Given the description of an element on the screen output the (x, y) to click on. 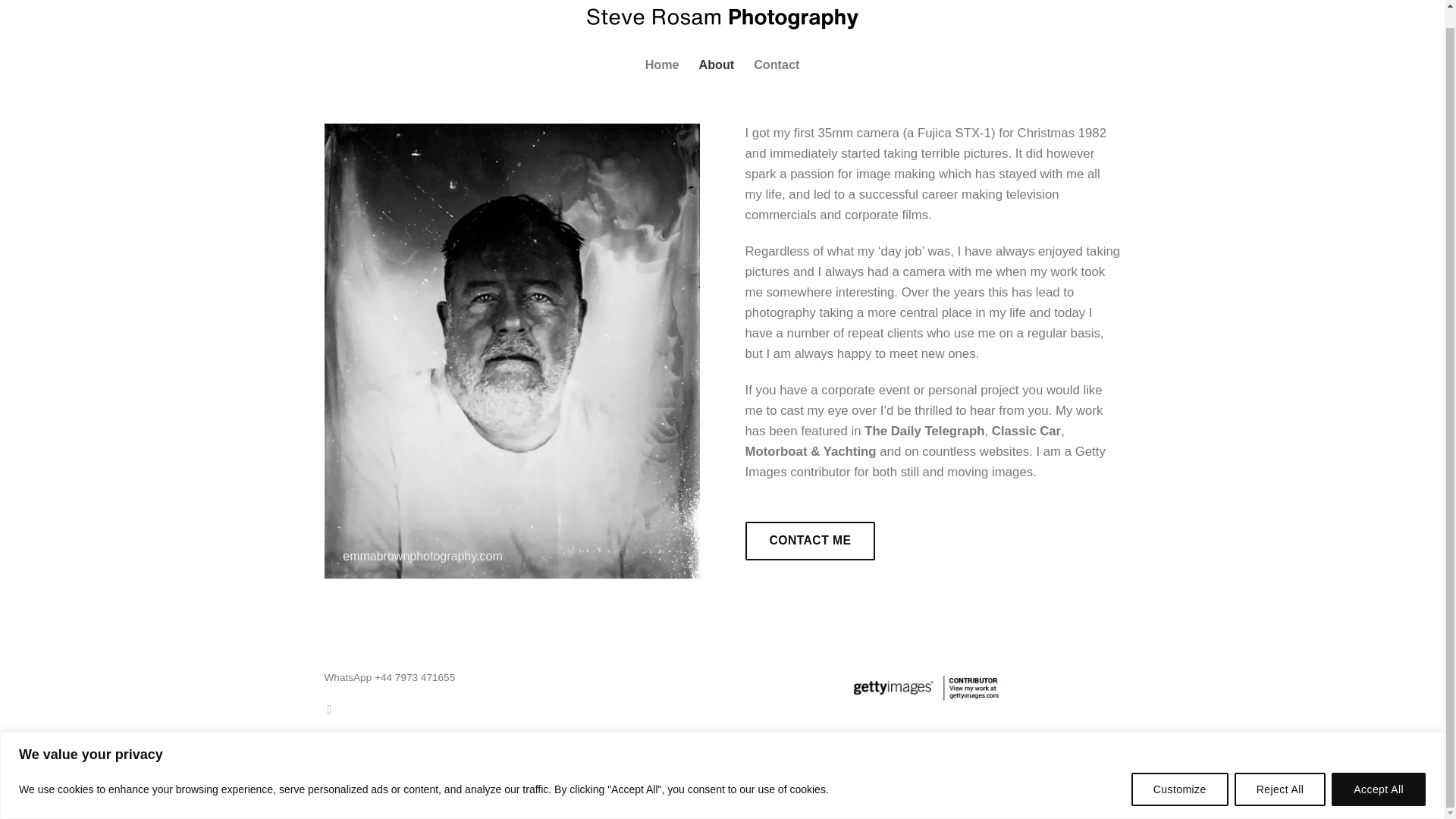
Contact (776, 63)
Reject All (1280, 770)
Customize (1179, 770)
Home (662, 63)
Follow on Instagram (332, 708)
CONTACT ME (809, 540)
Privacy Policy (596, 780)
Accept All (1378, 770)
Steve Rosam Photography (722, 24)
Designed by SmallBizSites (392, 798)
